Given the description of an element on the screen output the (x, y) to click on. 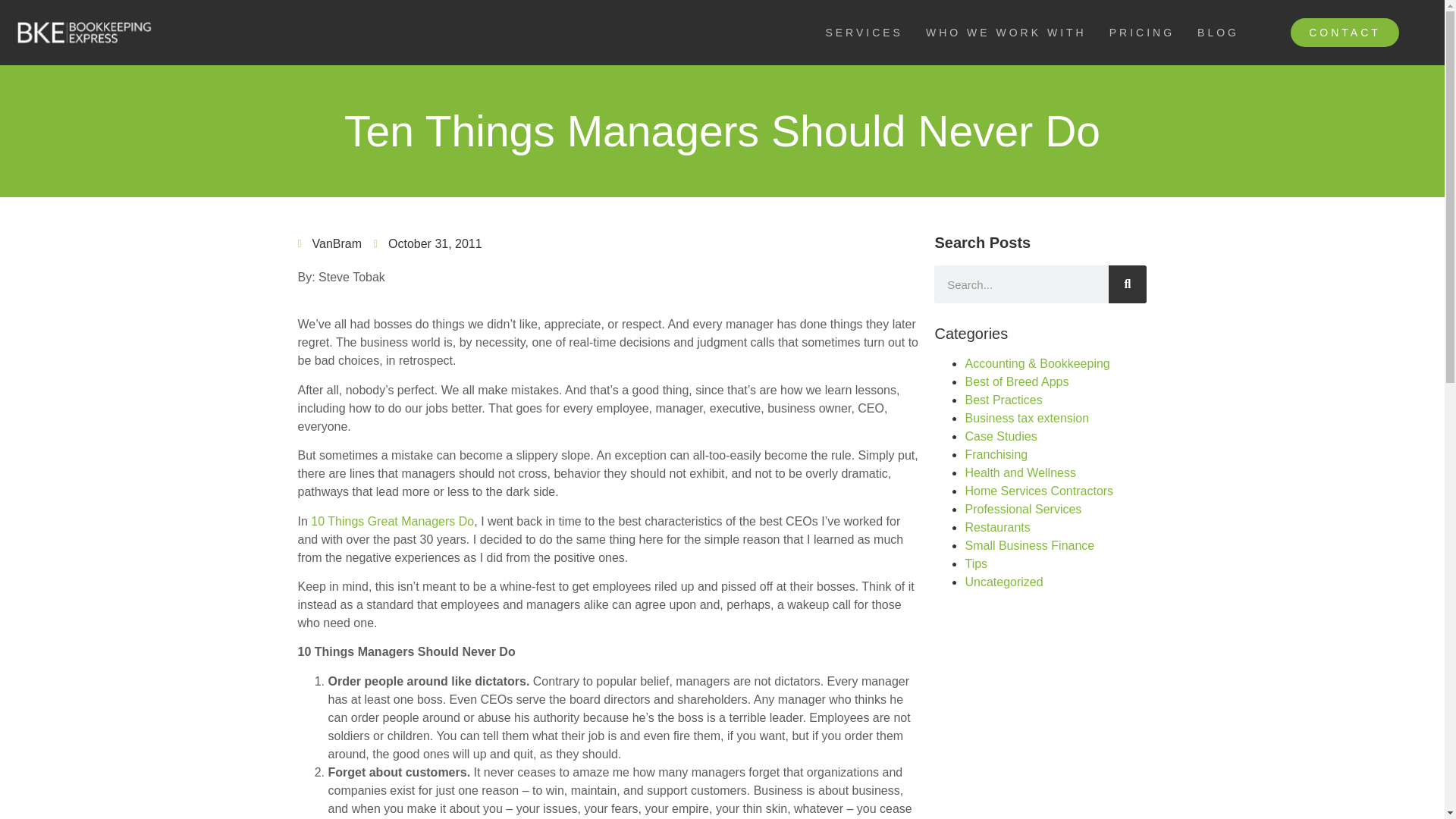
CONTACT (1344, 32)
SERVICES (863, 32)
WHO WE WORK WITH (1005, 32)
PRICING (1141, 32)
BLOG (1218, 32)
